Given the description of an element on the screen output the (x, y) to click on. 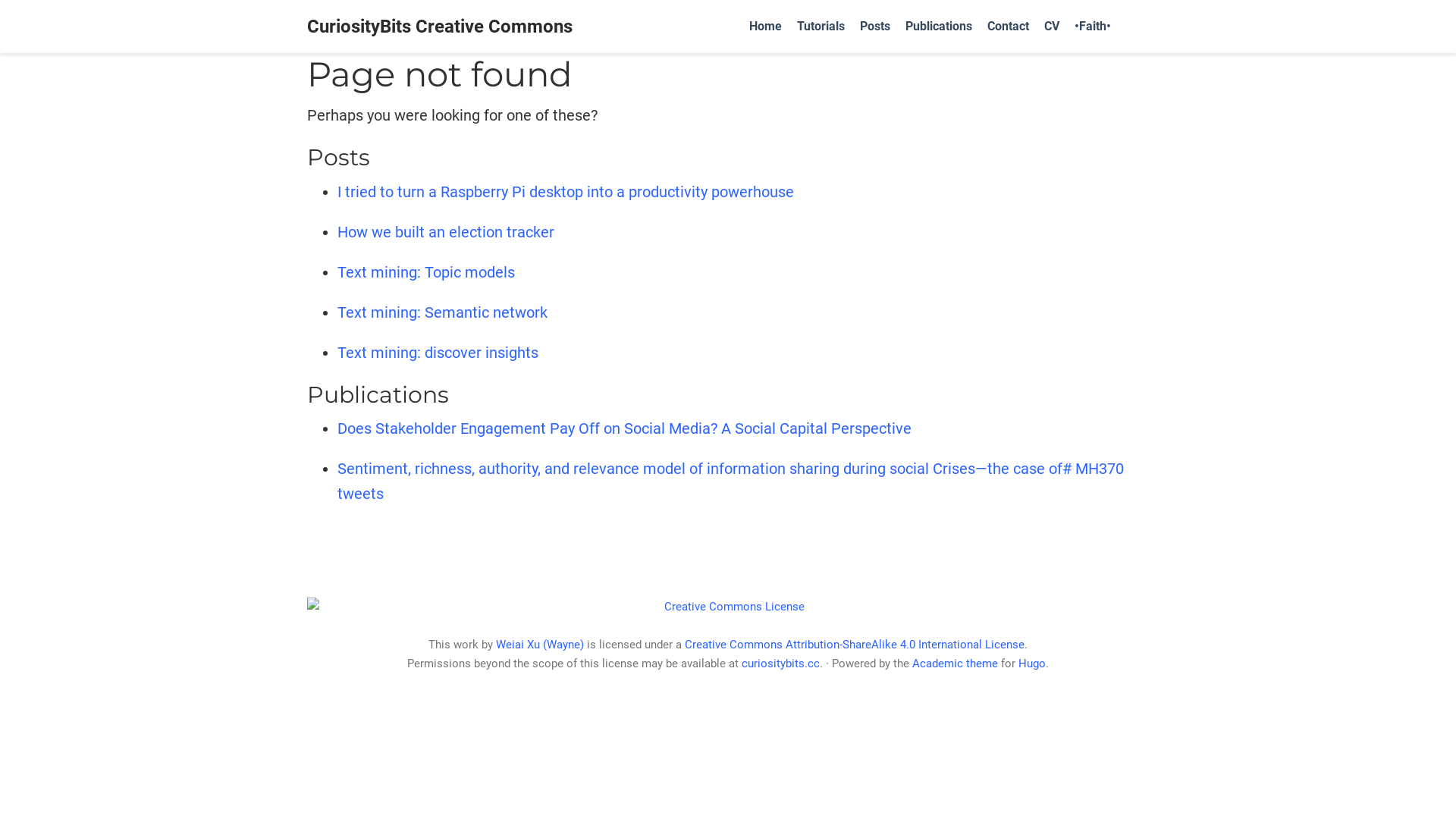
Hugo Element type: text (1031, 663)
Tutorials Element type: text (820, 26)
CV Element type: text (1051, 26)
Text mining: Topic models Element type: text (425, 272)
Publications Element type: text (938, 26)
Academic theme Element type: text (954, 663)
Text mining: discover insights Element type: text (437, 352)
Text mining: Semantic network Element type: text (442, 312)
How we built an election tracker Element type: text (445, 231)
Contact Element type: text (1007, 26)
curiositybits.cc Element type: text (780, 663)
CuriosityBits Creative Commons Element type: text (439, 26)
Weiai Xu (Wayne) Element type: text (540, 644)
Home Element type: text (765, 26)
Posts Element type: text (874, 26)
